Given the description of an element on the screen output the (x, y) to click on. 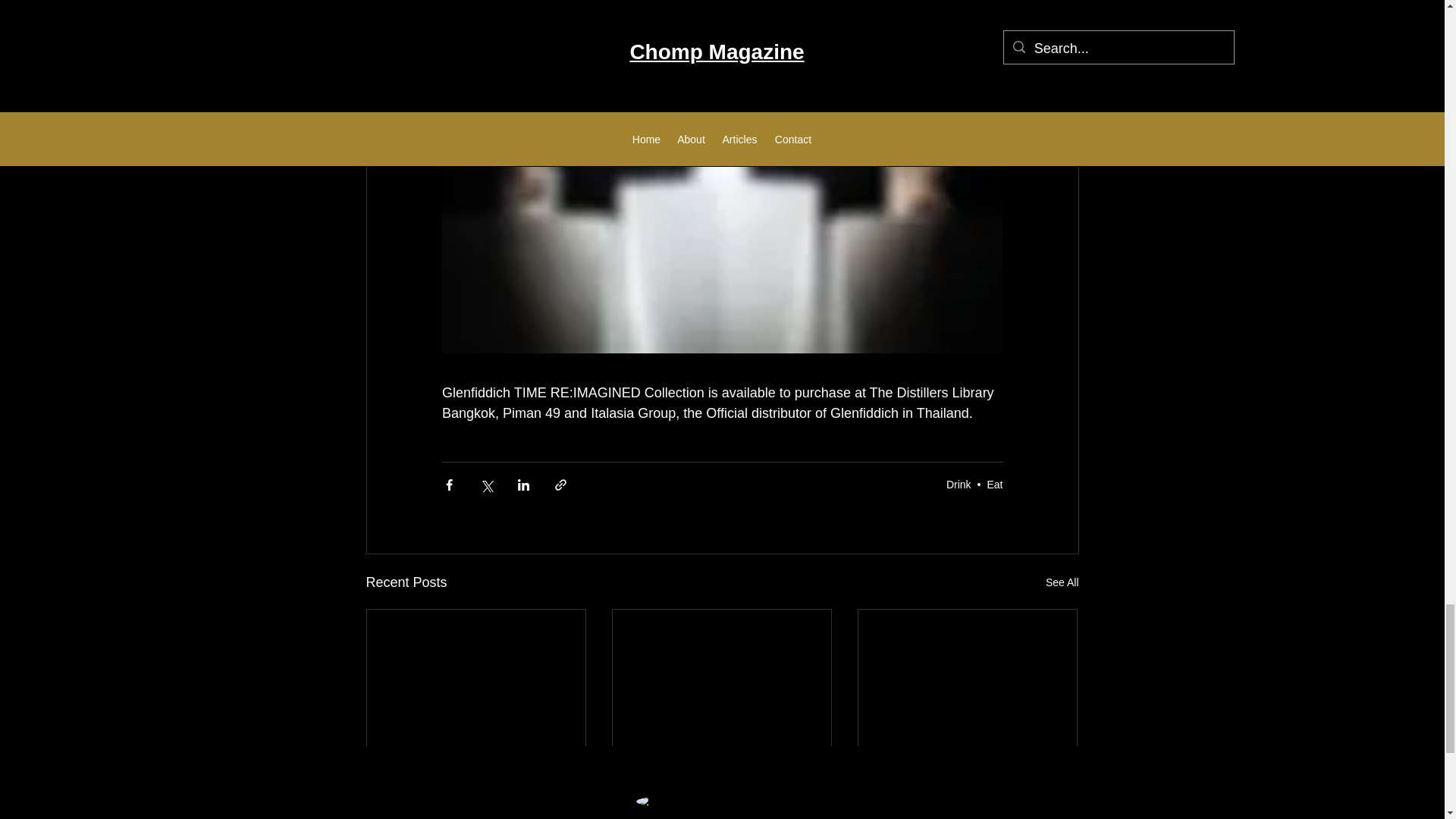
See All (1061, 582)
Eat (995, 484)
Drink (958, 484)
